Given the description of an element on the screen output the (x, y) to click on. 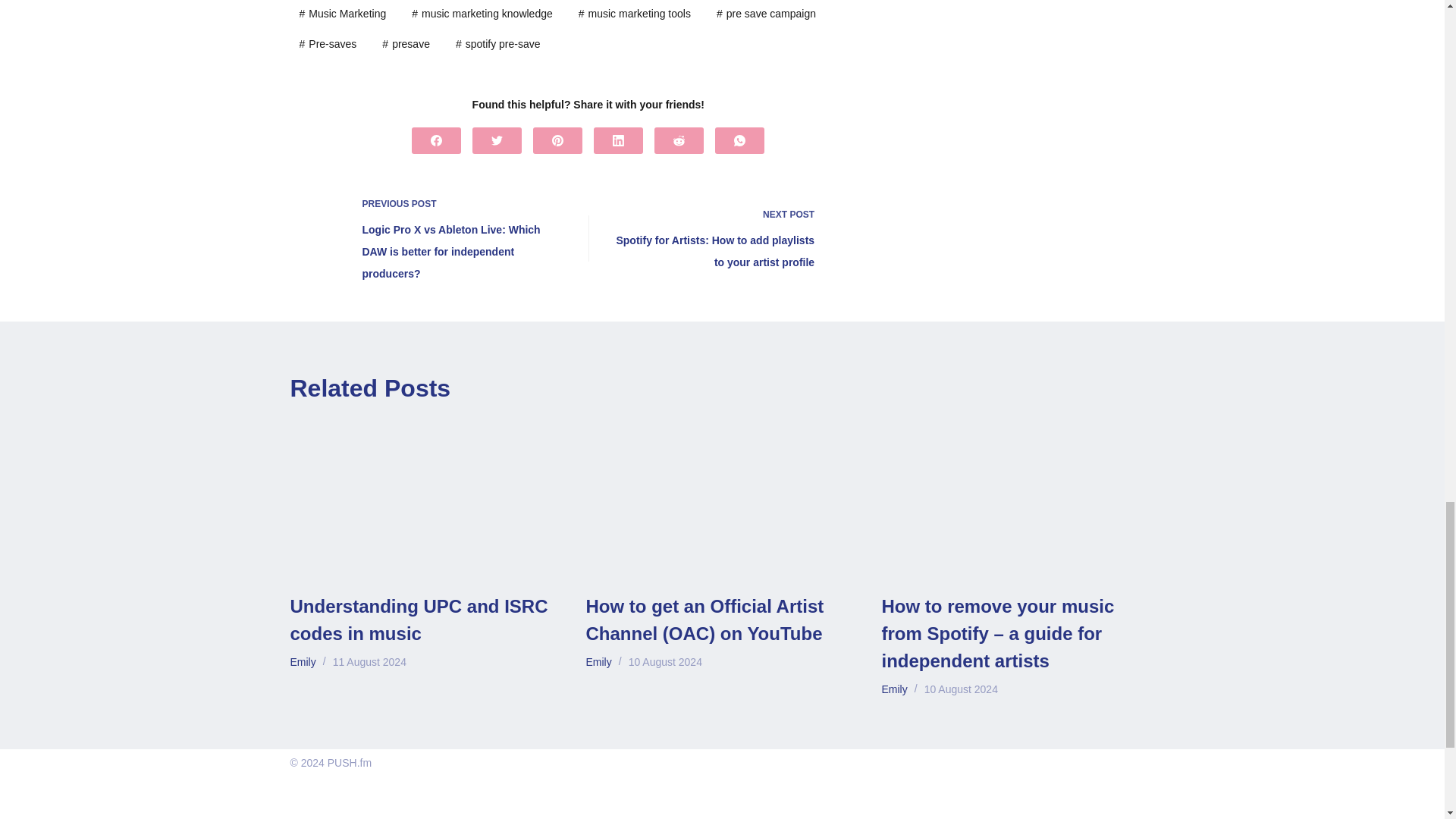
Posts by Emily (598, 662)
Music Marketing (341, 13)
Posts by Emily (302, 662)
pre save campaign (766, 13)
presave (405, 44)
music marketing tools (634, 13)
Posts by Emily (893, 689)
spotify pre-save (498, 44)
Pre-saves (327, 44)
music marketing knowledge (482, 13)
